Given the description of an element on the screen output the (x, y) to click on. 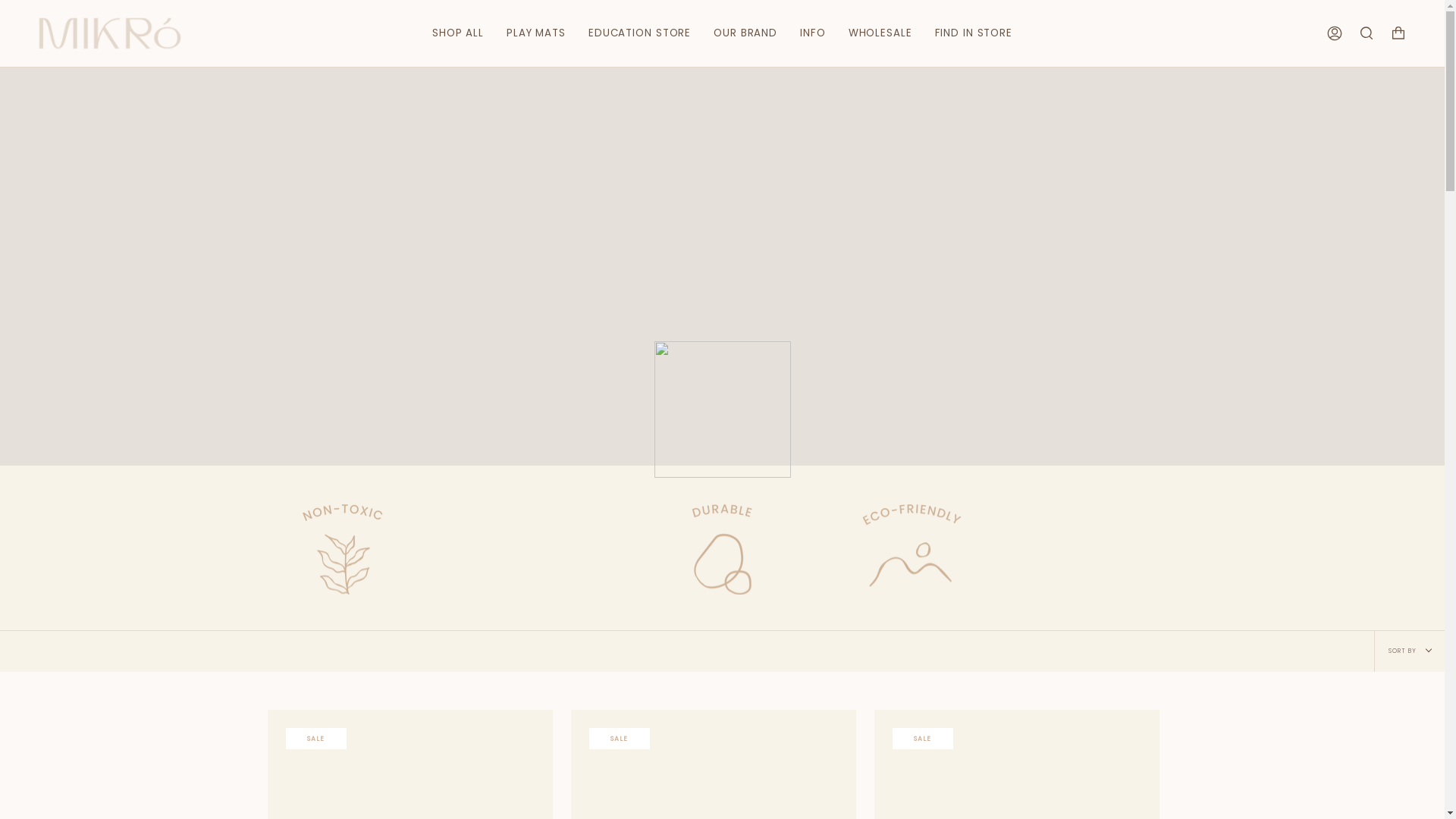
SEARCH Element type: text (1366, 33)
WHOLESALE Element type: text (880, 33)
SHOP ALL Element type: text (457, 33)
PLAY MATS Element type: text (536, 33)
FIND IN STORE Element type: text (973, 33)
SORT BY Element type: text (1409, 650)
INFO Element type: text (812, 33)
CART Element type: text (1398, 33)
ACCOUNT Element type: text (1334, 33)
EDUCATION STORE Element type: text (639, 33)
OUR BRAND Element type: text (745, 33)
